Given the description of an element on the screen output the (x, y) to click on. 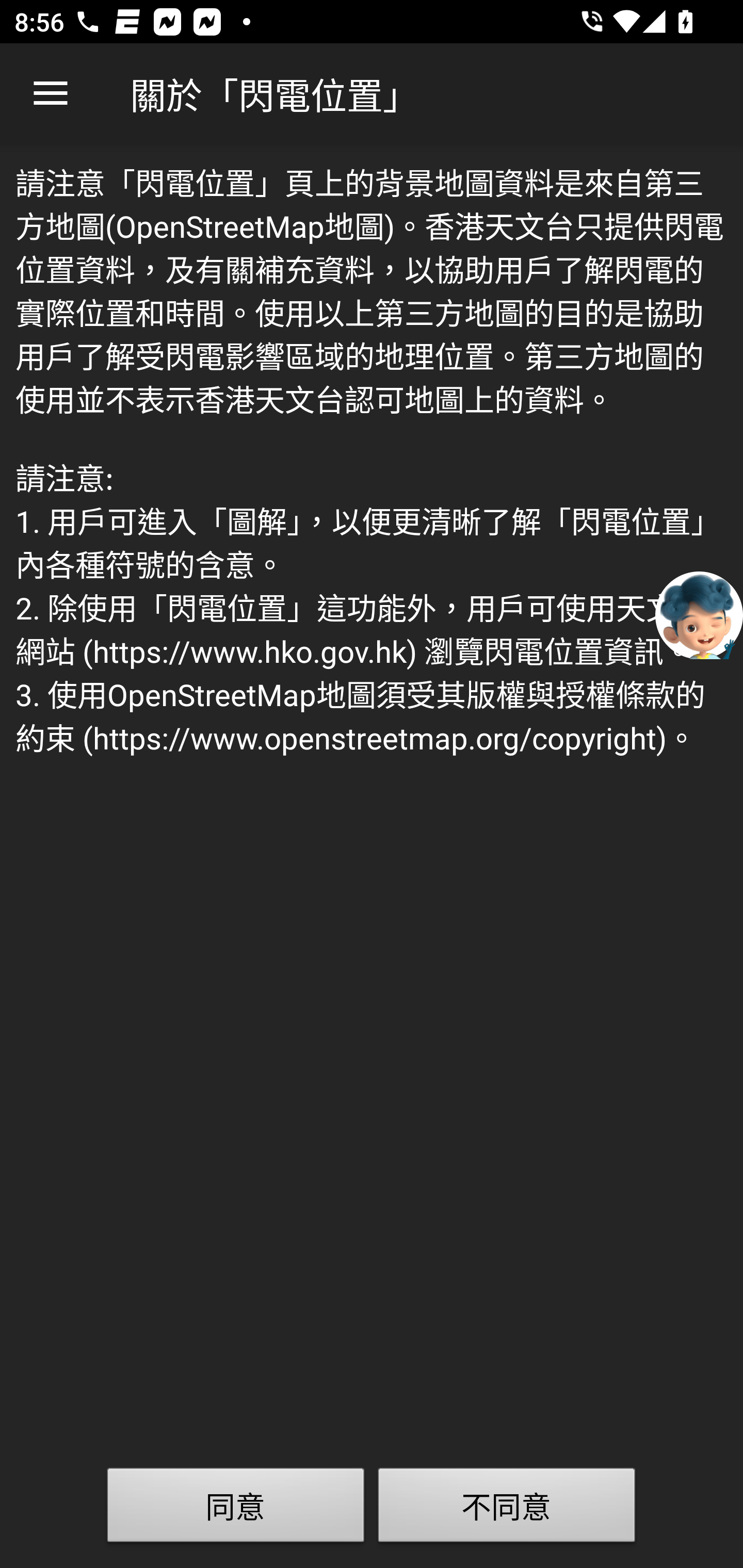
向上瀏覽 (50, 93)
聊天機械人 (699, 614)
同意 (235, 1509)
不同意 (506, 1509)
